Given the description of an element on the screen output the (x, y) to click on. 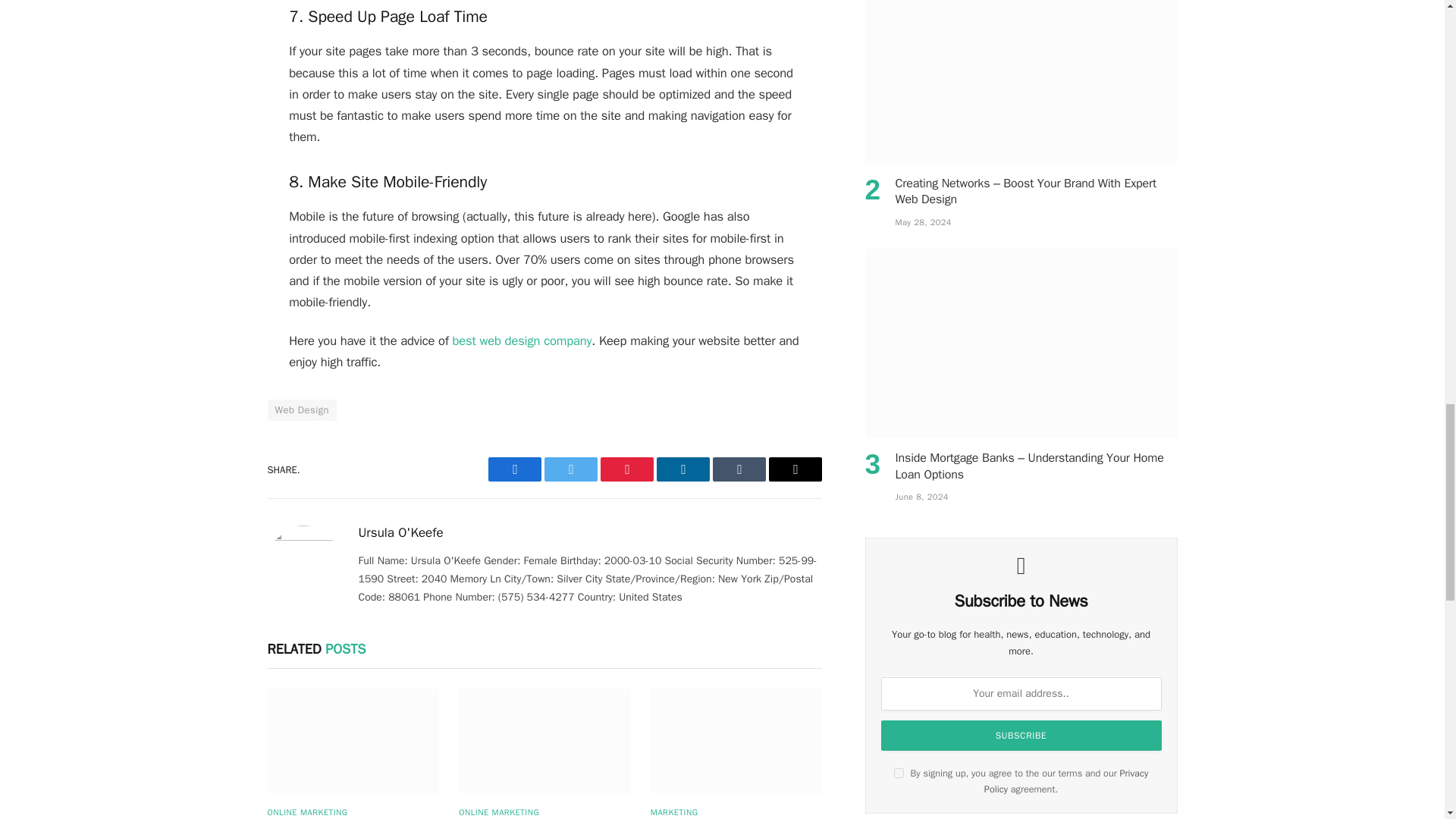
Subscribe (1020, 735)
on (898, 773)
